Given the description of an element on the screen output the (x, y) to click on. 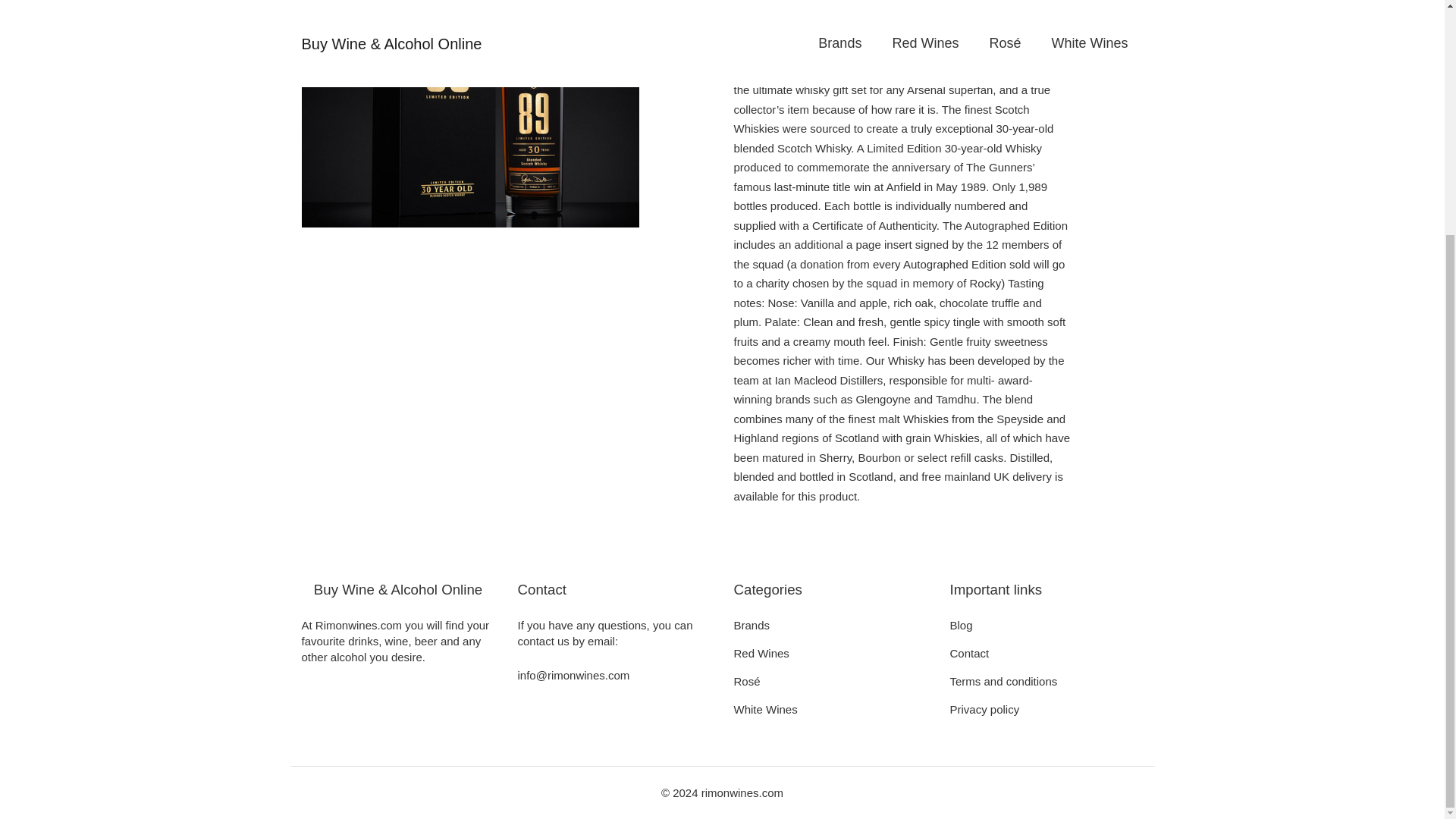
Brands (751, 625)
Blog (960, 625)
White Wines (765, 708)
Red Wines (761, 653)
Privacy policy (984, 708)
Terms and conditions (1003, 680)
Contact (968, 653)
BUY NOW (789, 12)
